Given the description of an element on the screen output the (x, y) to click on. 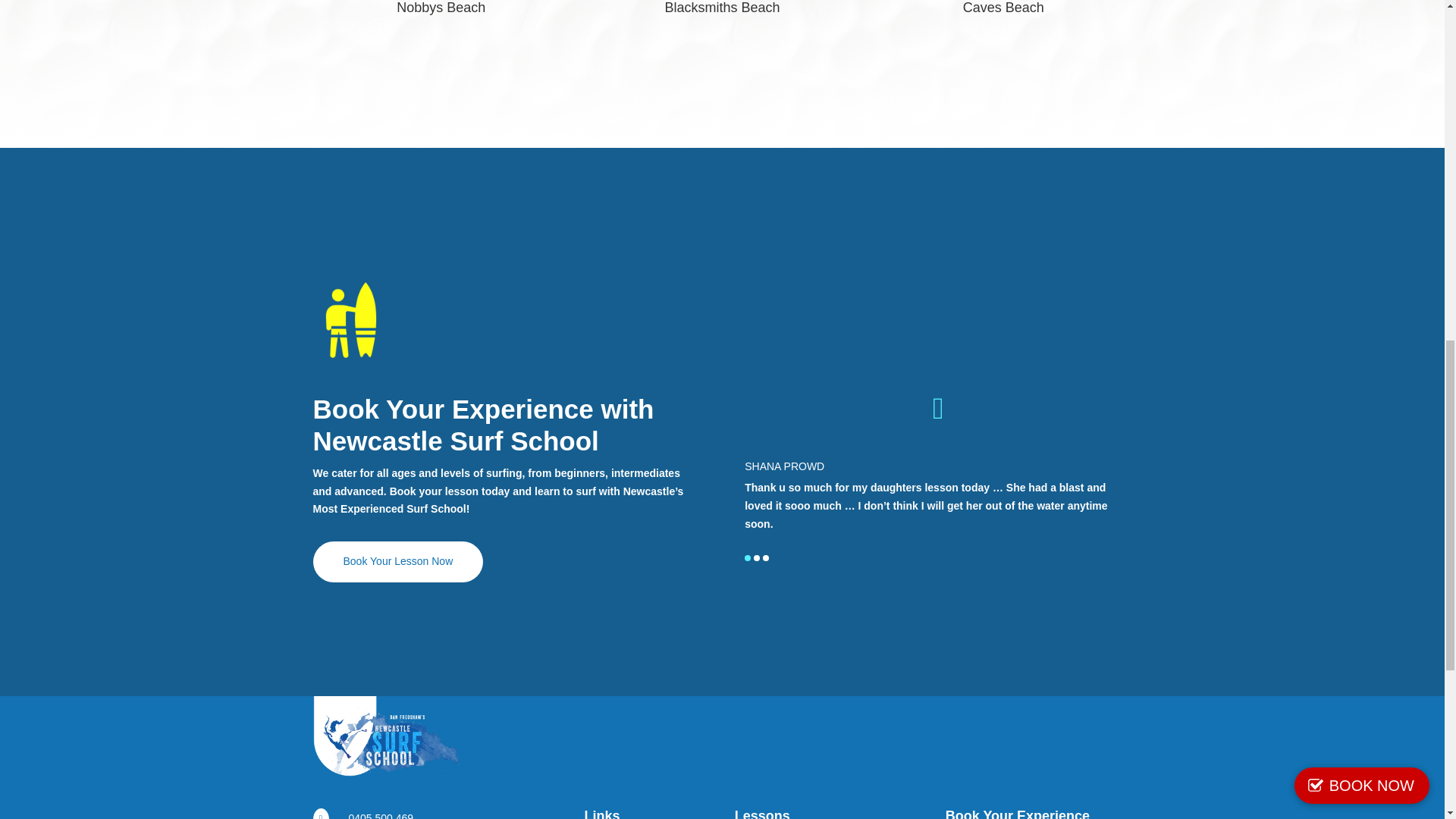
FareHarbor (1342, 64)
Book Your Lesson Now (398, 561)
Newcastle Surf School (387, 741)
Icon-10 (350, 319)
